Given the description of an element on the screen output the (x, y) to click on. 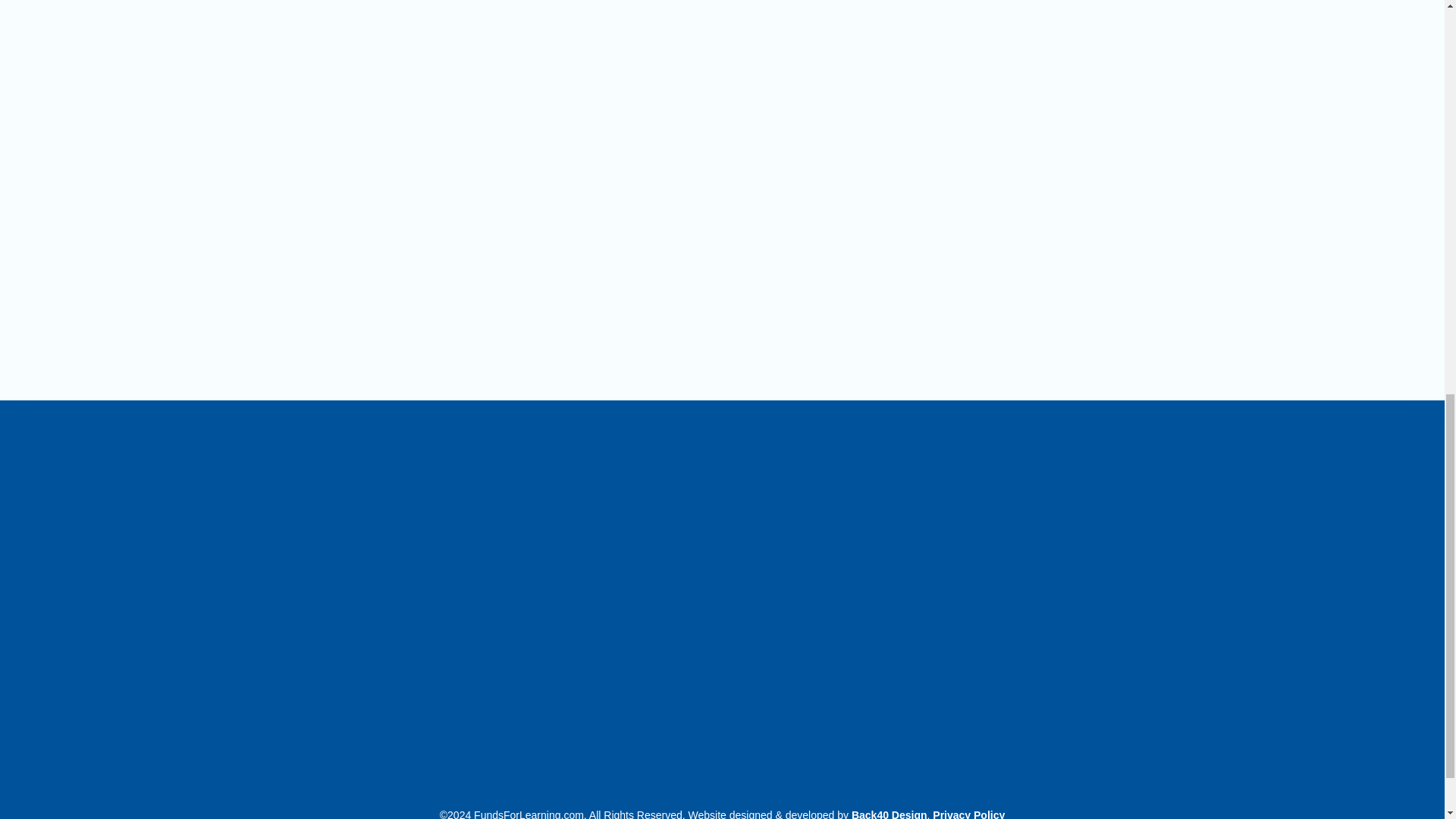
Back40 Design (889, 814)
Privacy Policy (968, 814)
